Given the description of an element on the screen output the (x, y) to click on. 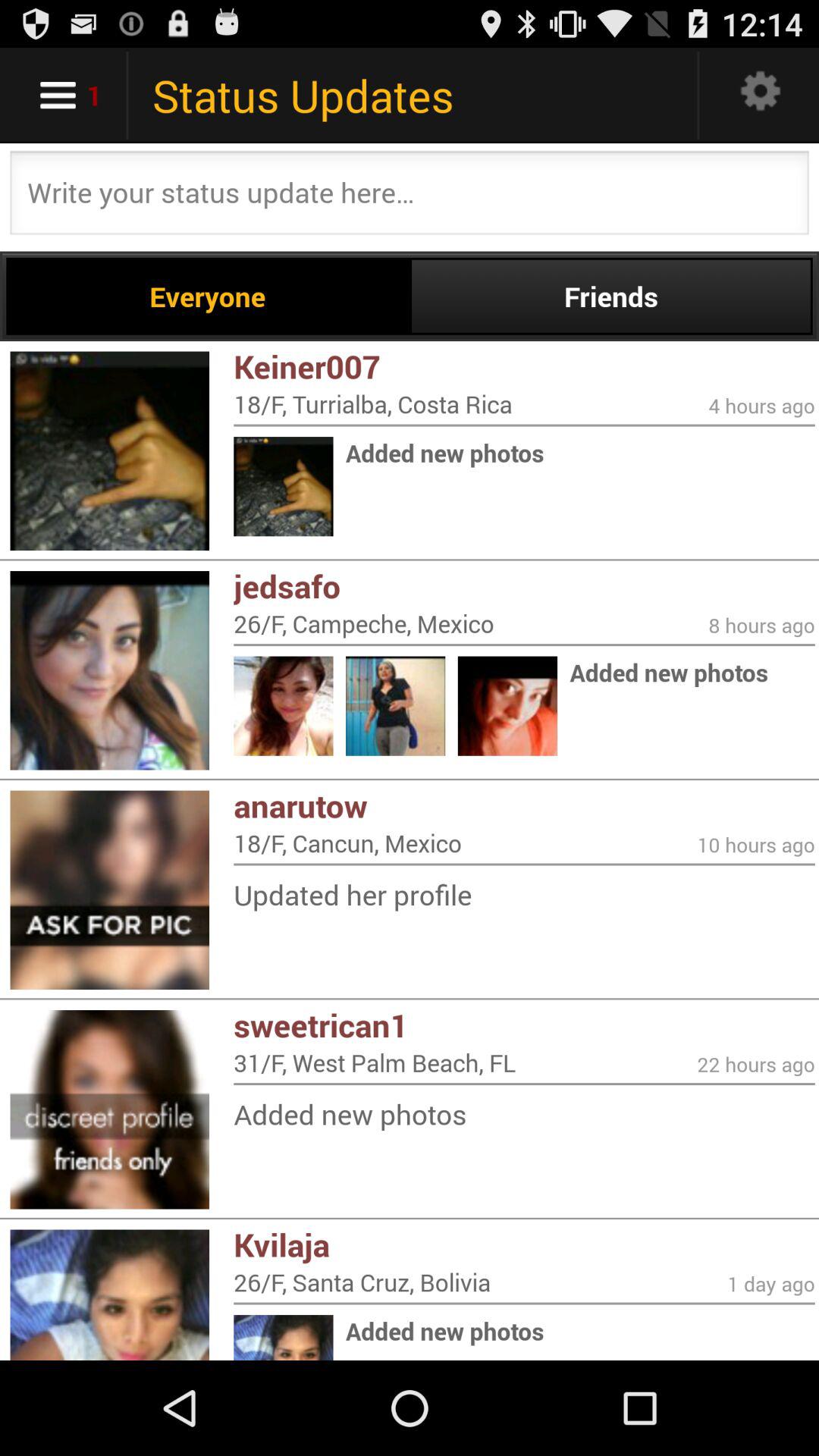
update status (409, 197)
